Given the description of an element on the screen output the (x, y) to click on. 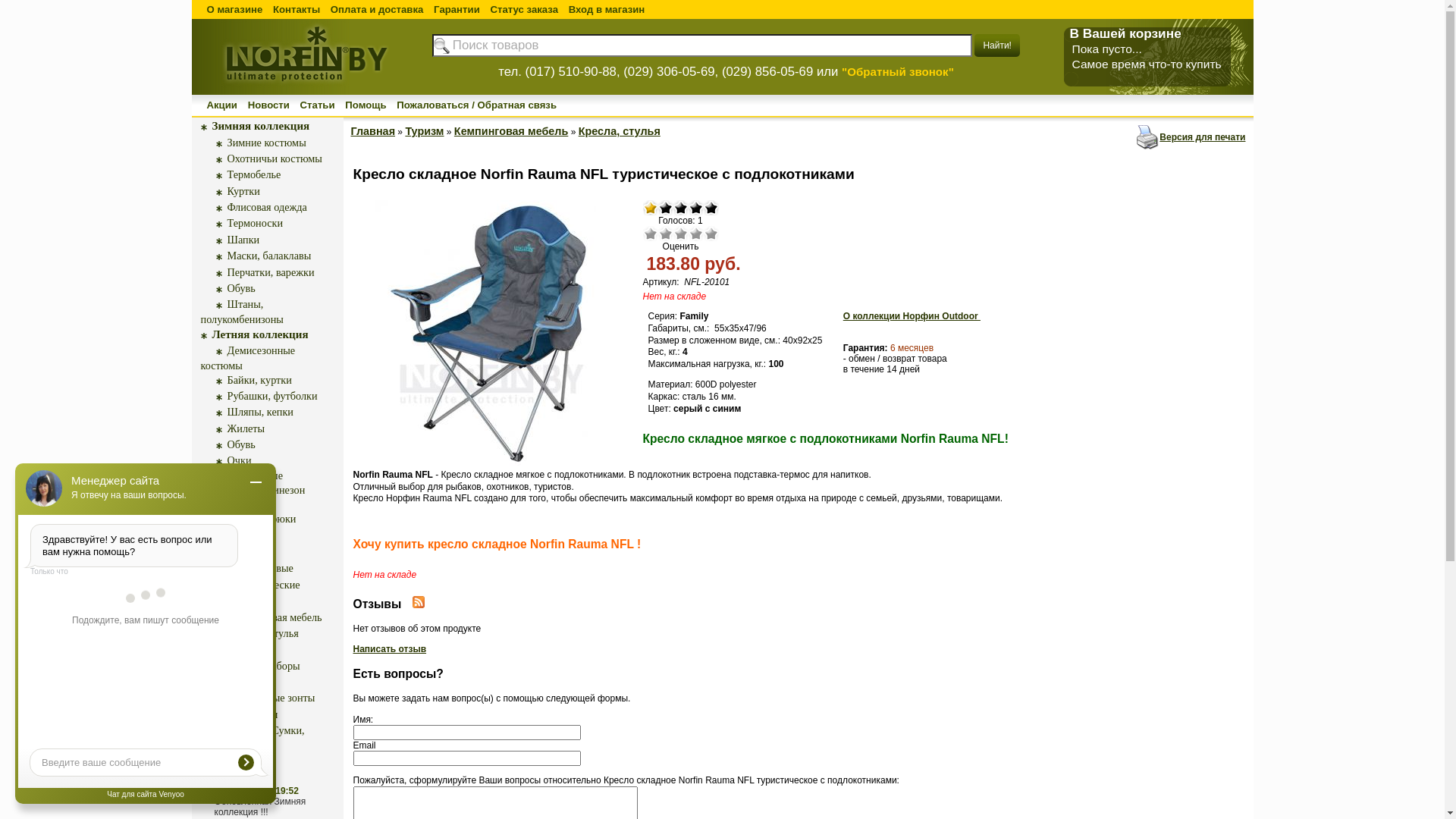
LOGO Element type: text (302, 92)
